Given the description of an element on the screen output the (x, y) to click on. 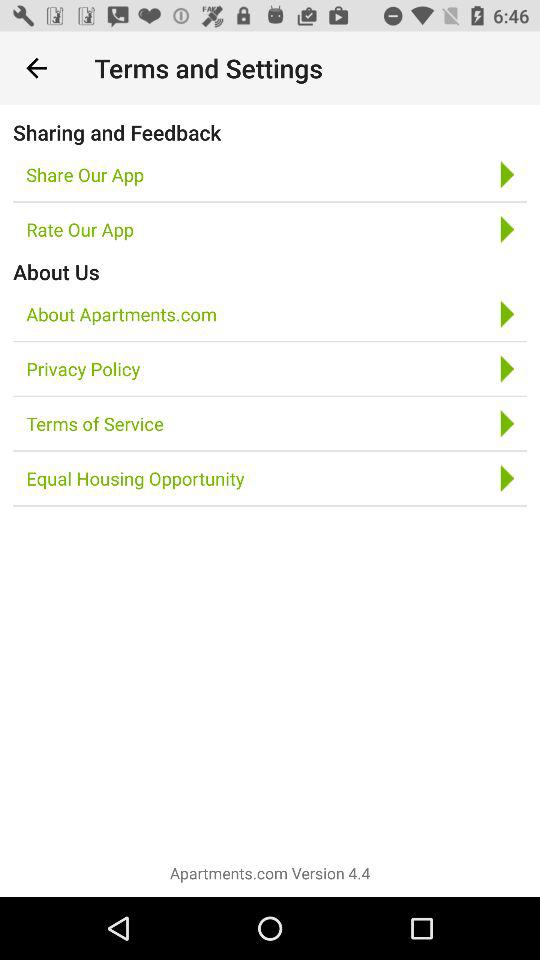
press item to the left of terms and settings item (36, 68)
